Given the description of an element on the screen output the (x, y) to click on. 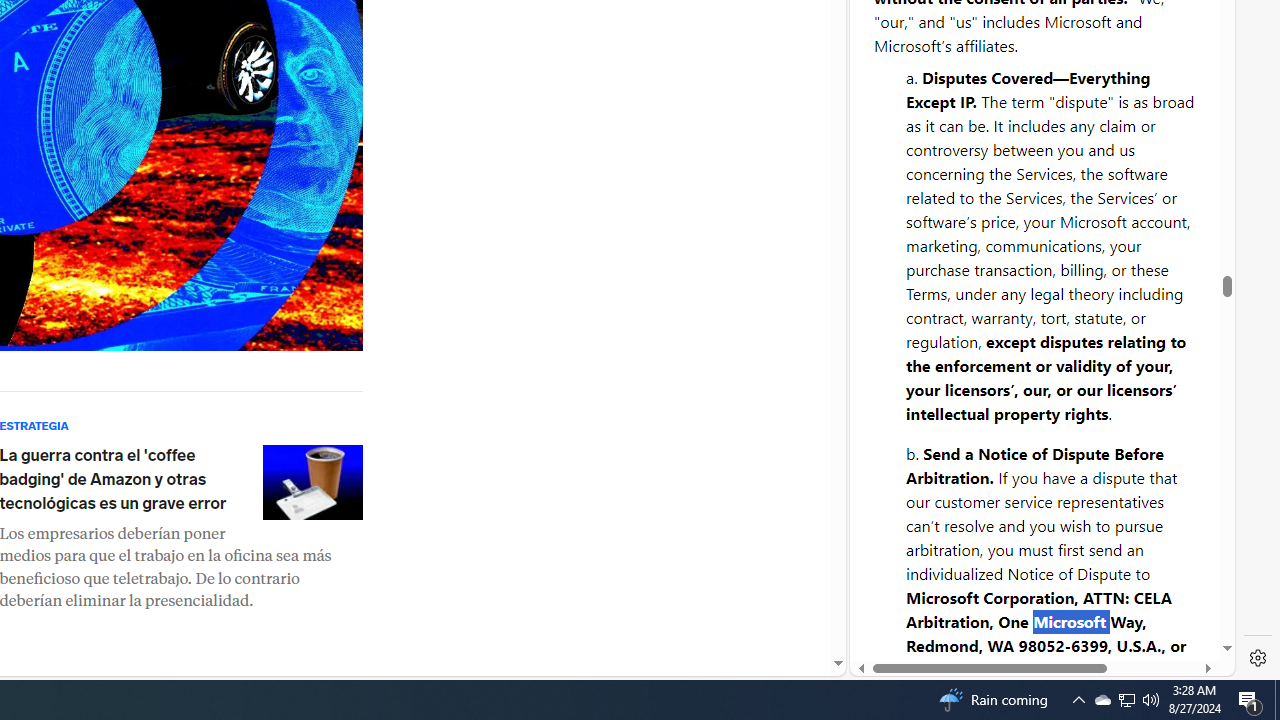
Coffee Badgings (312, 481)
Open in New Tab (1042, 631)
